Given the description of an element on the screen output the (x, y) to click on. 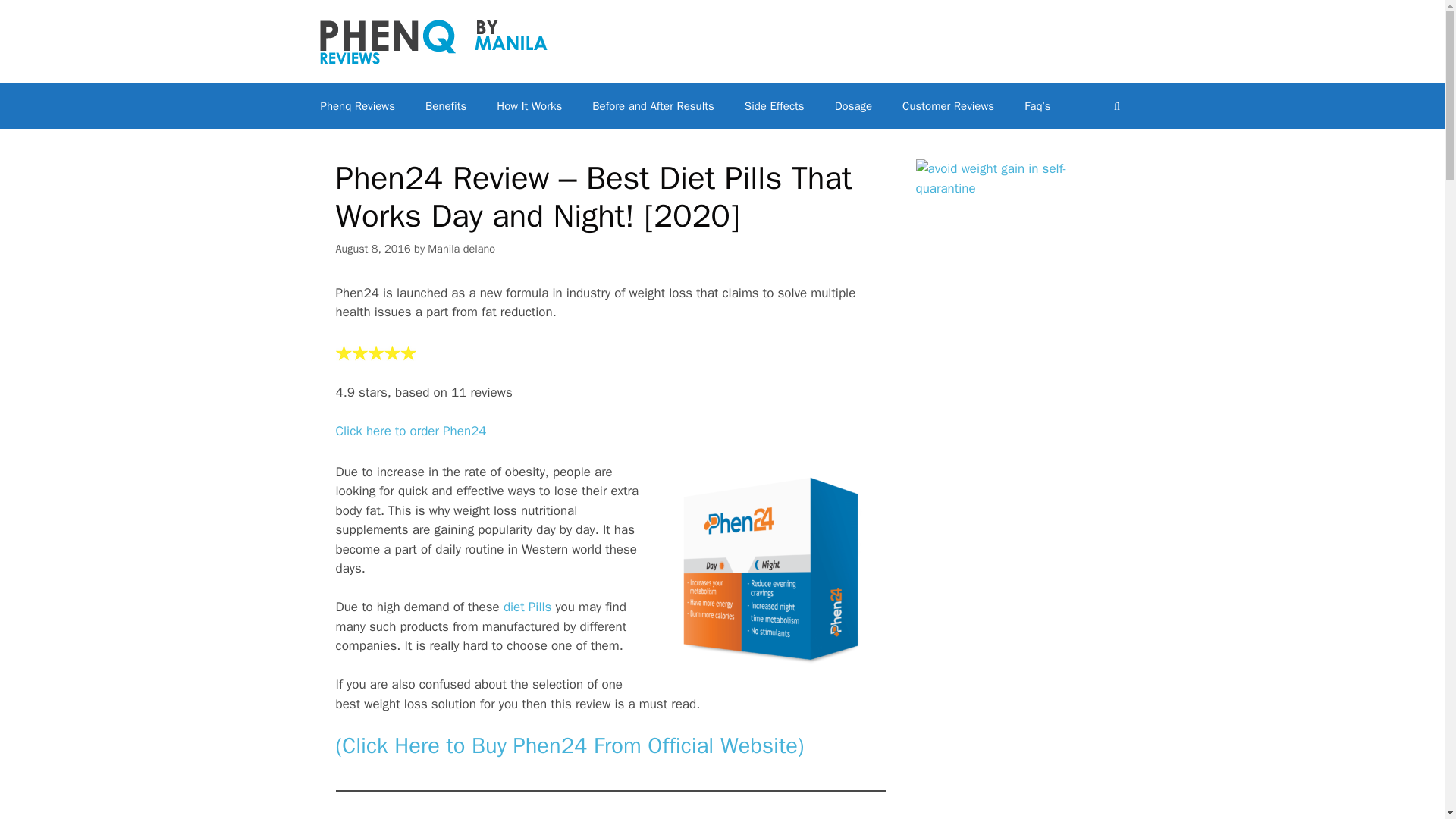
Benefits (445, 105)
Phenq Reviews (357, 105)
How It Works (528, 105)
Click here to order Phen24 (410, 430)
Side Effects (774, 105)
Customer Reviews (947, 105)
Before and After Results (652, 105)
Dosage (852, 105)
Manila delano (461, 248)
View all posts by Manila delano (461, 248)
